Given the description of an element on the screen output the (x, y) to click on. 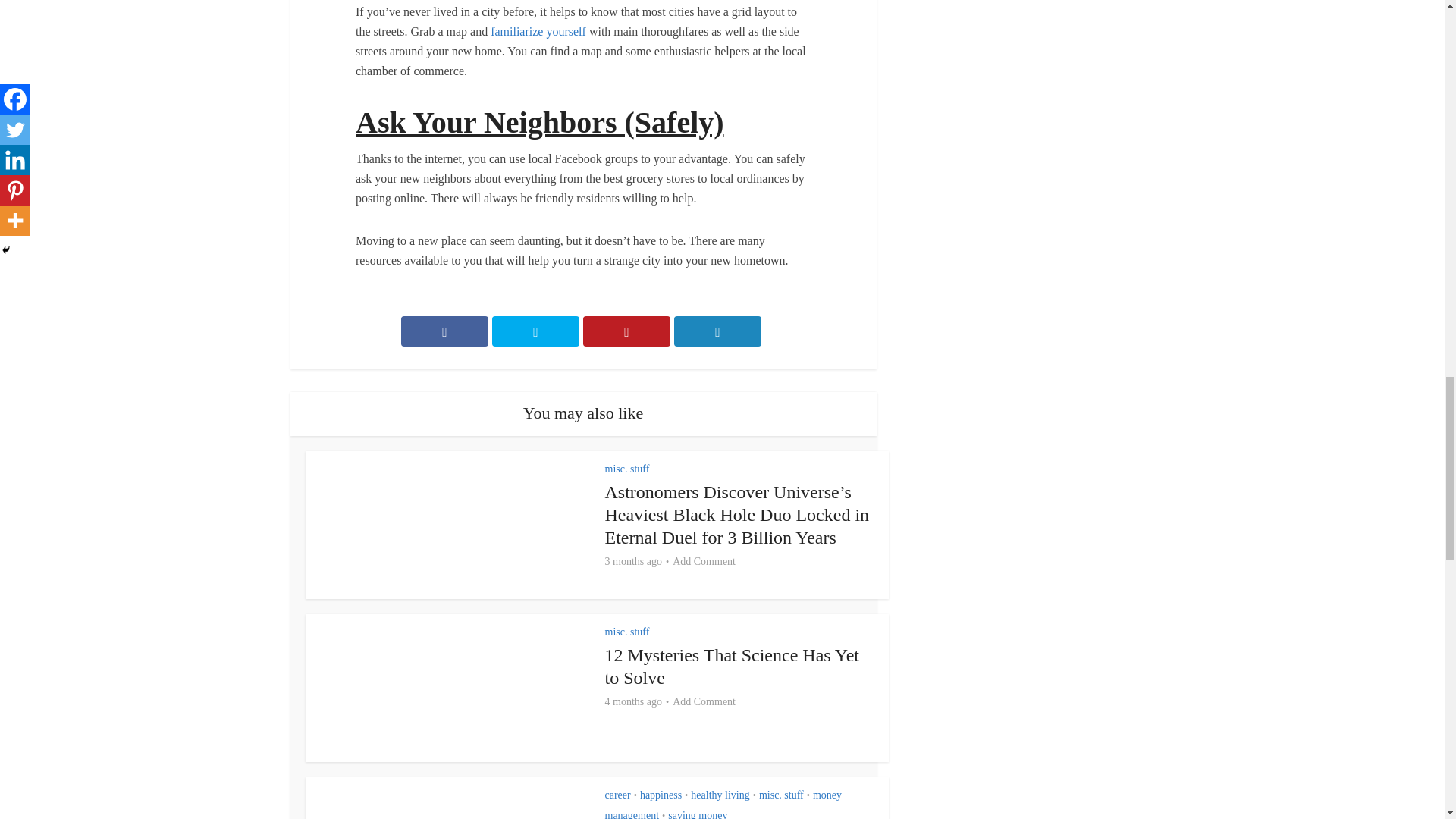
Add Comment (703, 561)
misc. stuff (627, 632)
misc. stuff (627, 469)
familiarize yourself (538, 31)
